Given the description of an element on the screen output the (x, y) to click on. 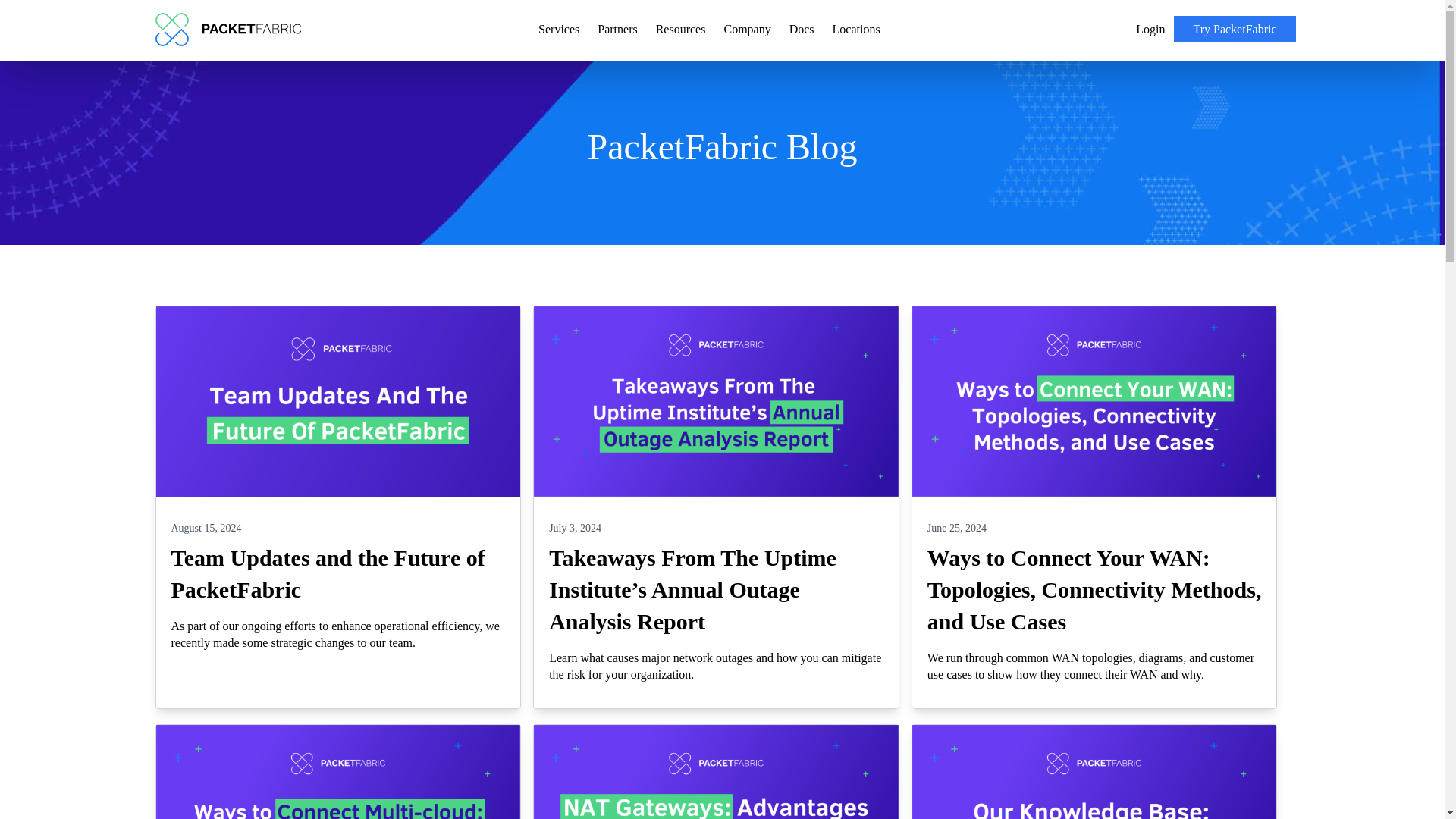
PacketFabric home page (226, 29)
Partners (616, 29)
Resources (681, 29)
Services (558, 29)
